Given the description of an element on the screen output the (x, y) to click on. 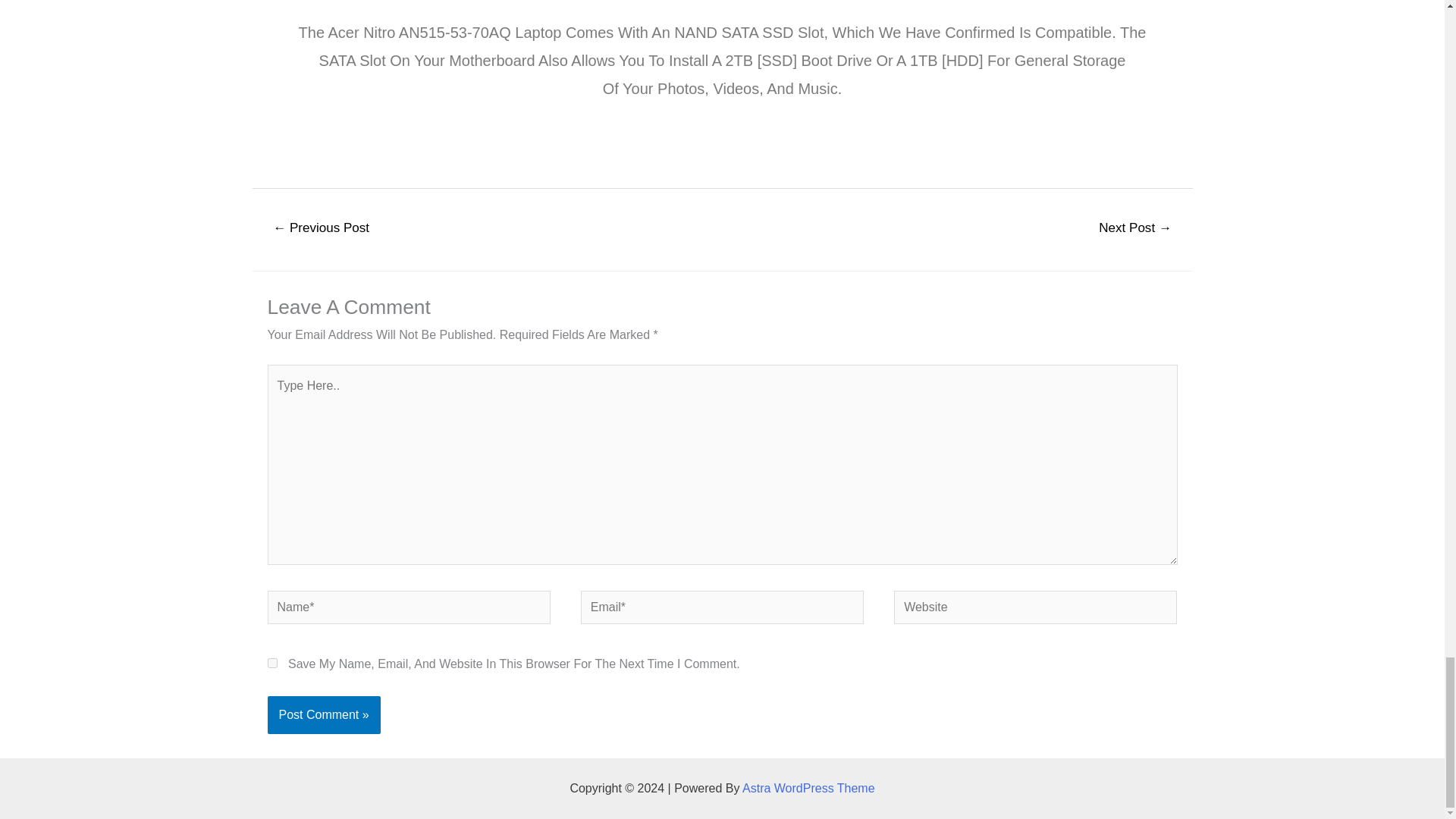
yes (271, 663)
